Given the description of an element on the screen output the (x, y) to click on. 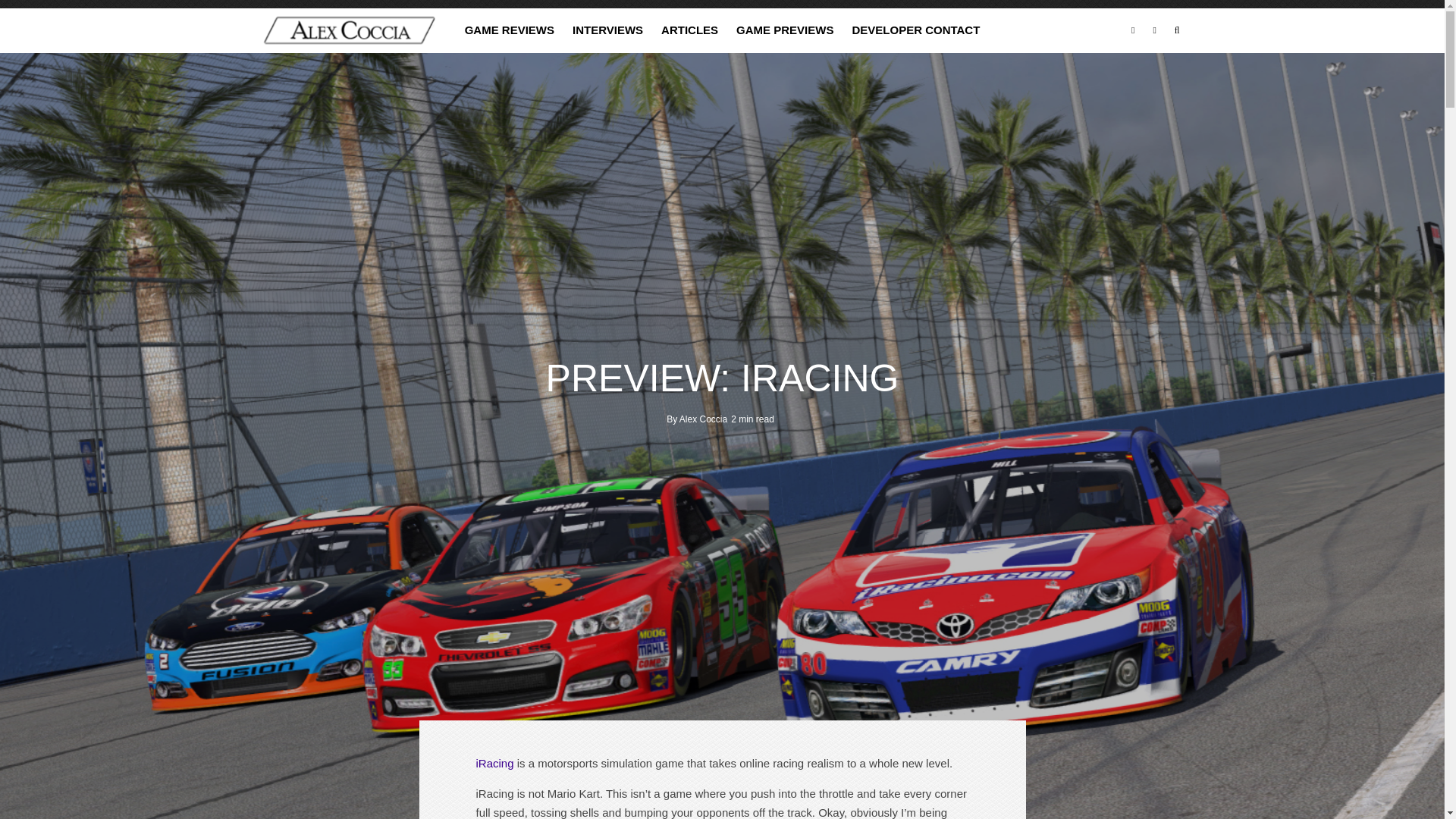
INTERVIEWS (607, 30)
GAME PREVIEWS (784, 30)
GAME REVIEWS (509, 30)
iRacing homepage (494, 762)
ARTICLES (689, 30)
